Given the description of an element on the screen output the (x, y) to click on. 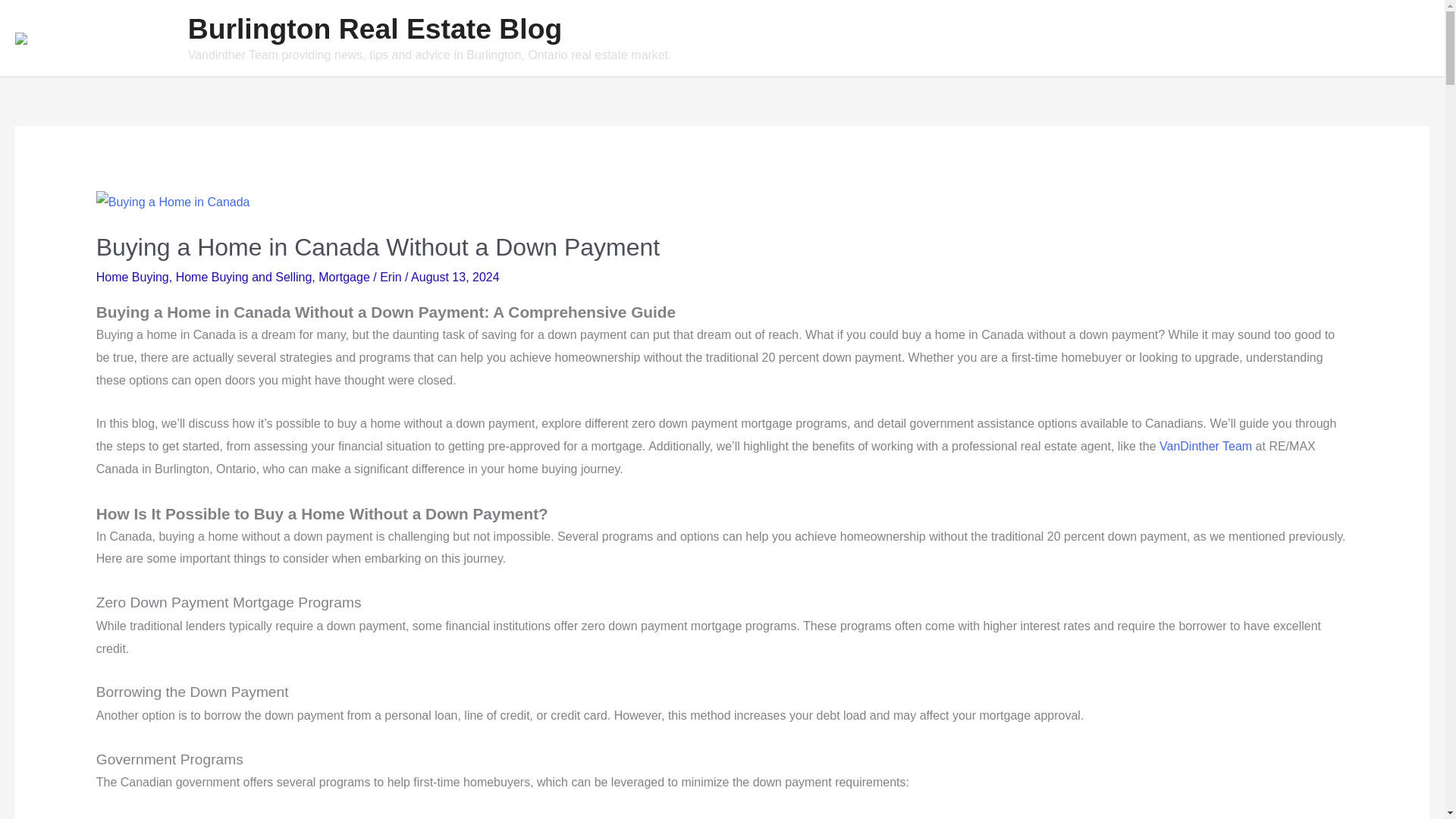
View all posts by Erin (392, 277)
Buying a Home in Canada Without a Down Payment (378, 247)
Home Buying and Selling (244, 277)
Erin (392, 277)
Burlington Real Estate Blog (374, 29)
VanDinther Team (1205, 445)
Mortgage (343, 277)
Home Buying (132, 277)
